Given the description of an element on the screen output the (x, y) to click on. 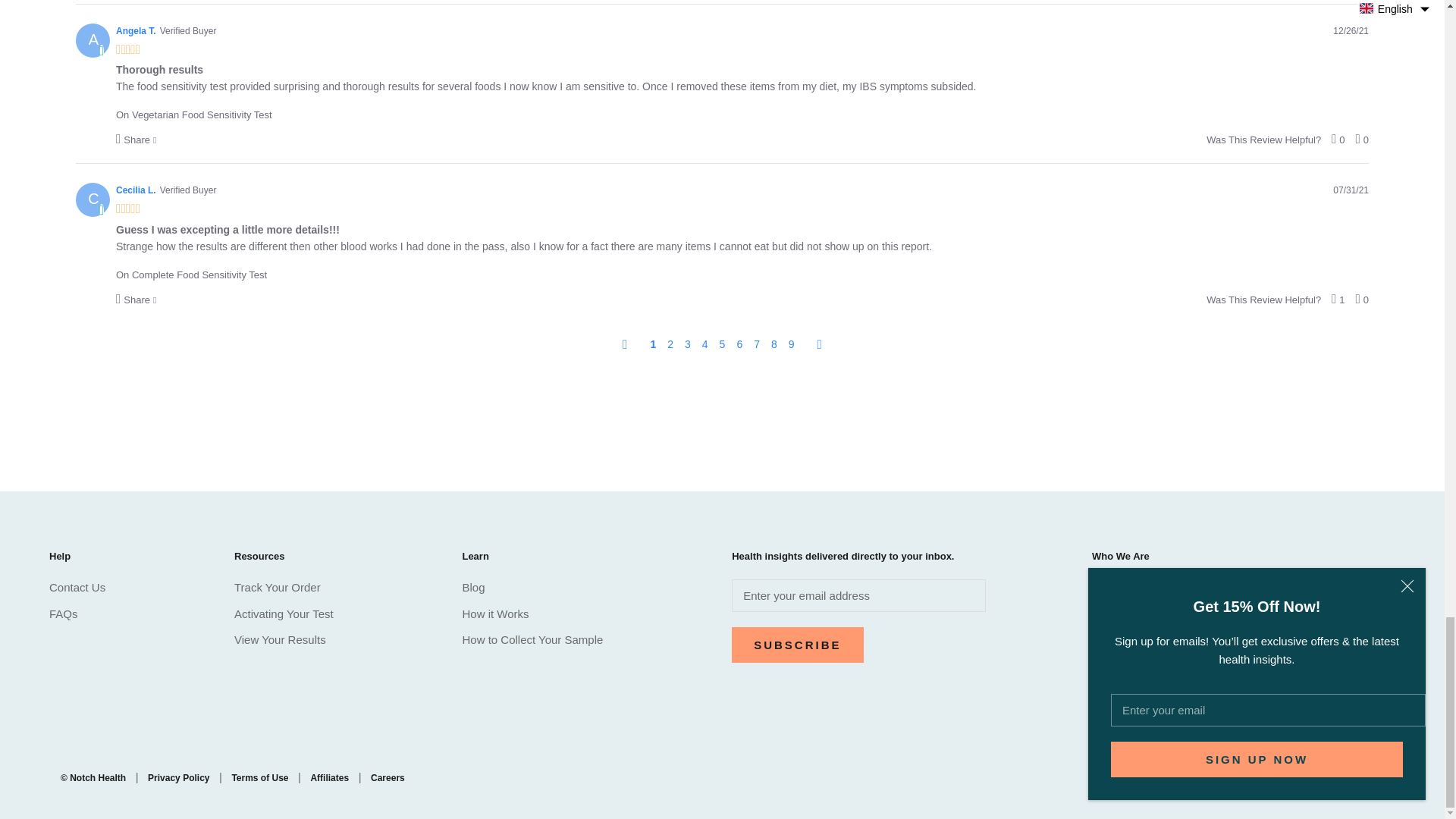
Our Story (1279, 625)
